Given the description of an element on the screen output the (x, y) to click on. 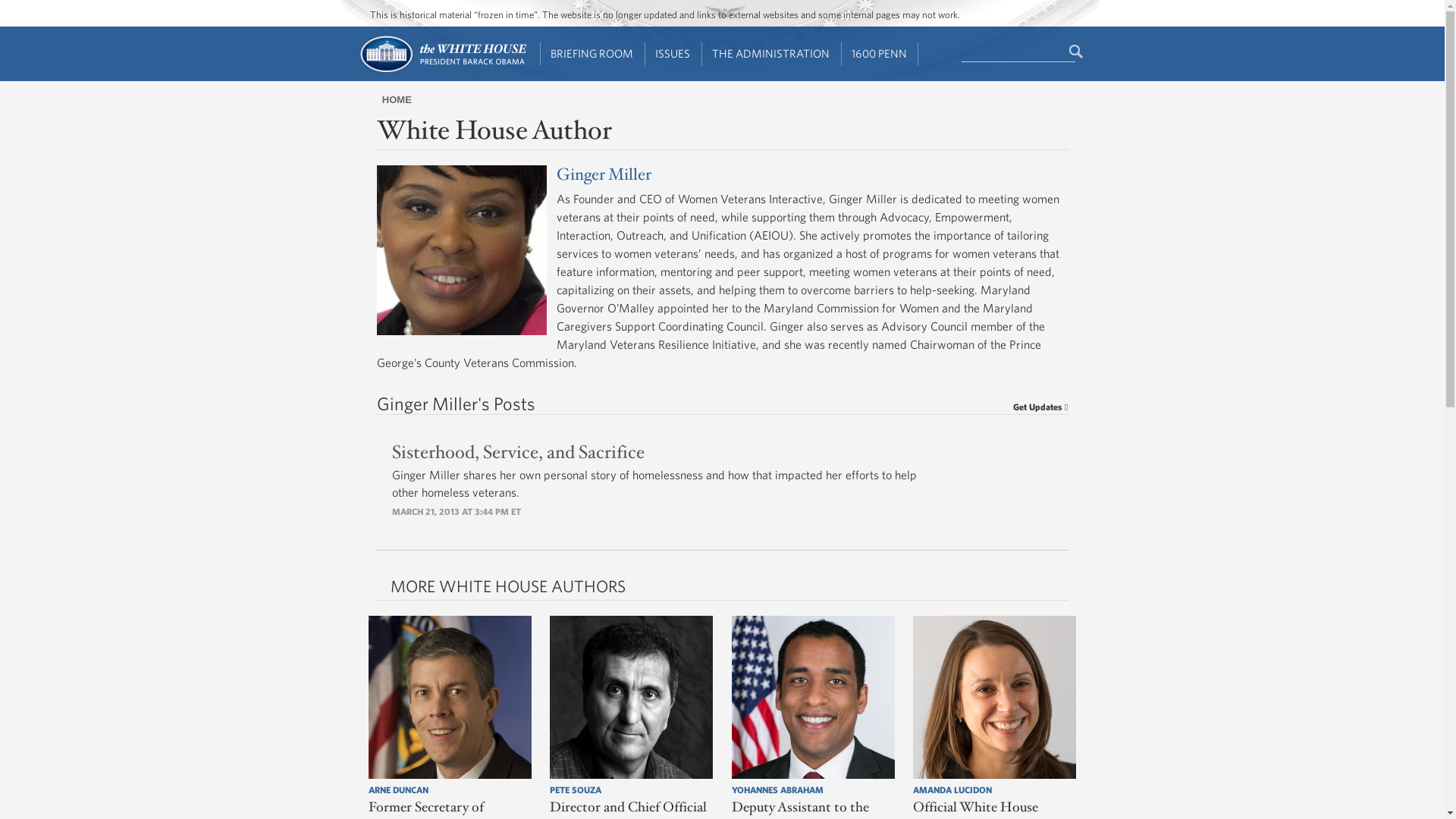
Search (1076, 51)
Home (441, 70)
BRIEFING ROOM (592, 53)
Yohannes Abraham (813, 696)
Enter the terms you wish to search for. (1017, 52)
ISSUES (673, 53)
